Given the description of an element on the screen output the (x, y) to click on. 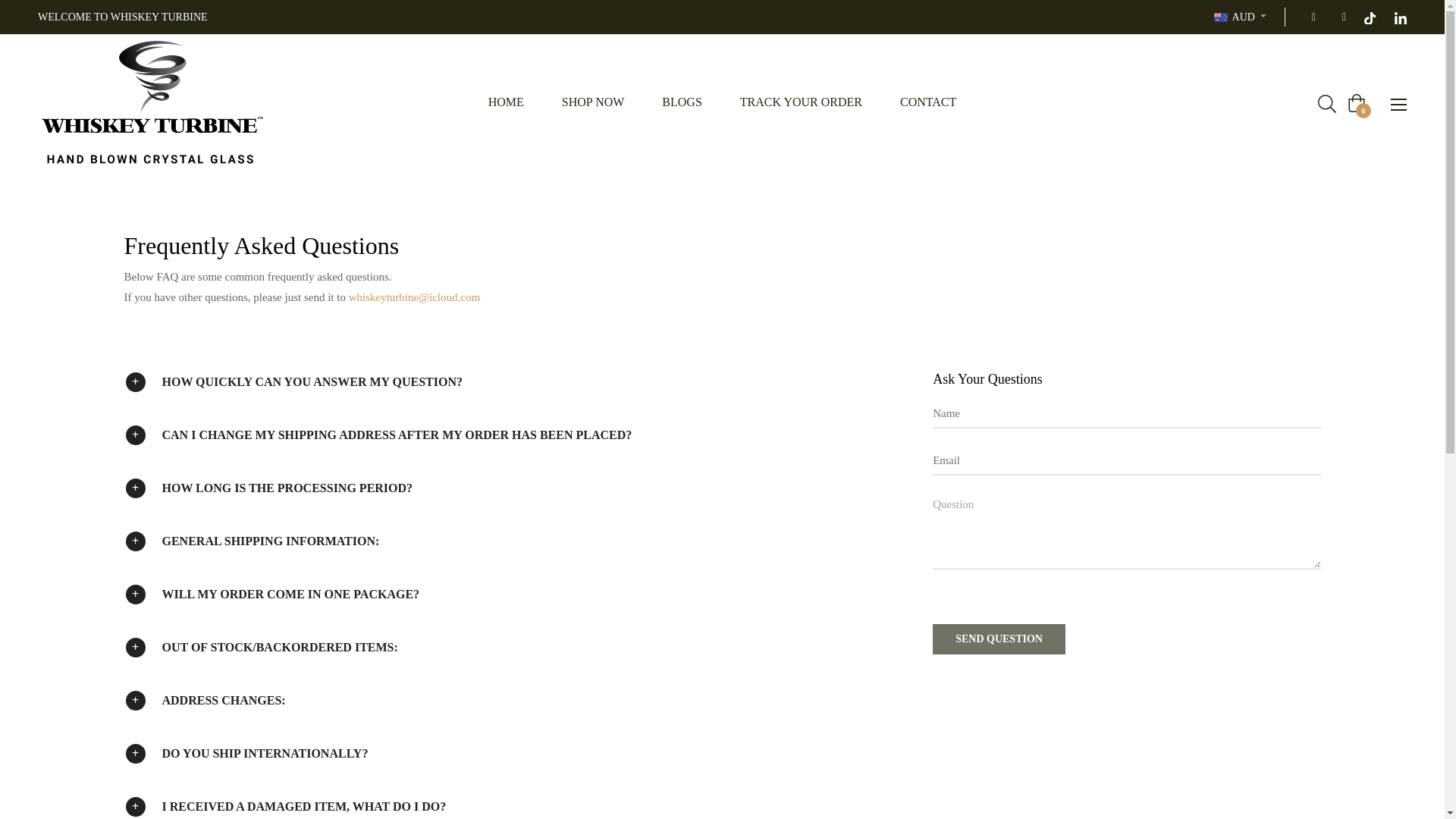
BLOGS (681, 102)
TRACK YOUR ORDER (800, 102)
whiskeyturbine.com on Facebook (1309, 16)
whiskeyturbine.com on Tiktok (1369, 16)
whiskeyturbine.com on Instagram (1339, 16)
SHOP NOW (593, 102)
Send question (999, 639)
Shopping Cart (1356, 103)
Currencies (1240, 16)
HOME (505, 102)
CONTACT (927, 102)
whiskeyturbine.com on Linked (1400, 16)
